Given the description of an element on the screen output the (x, y) to click on. 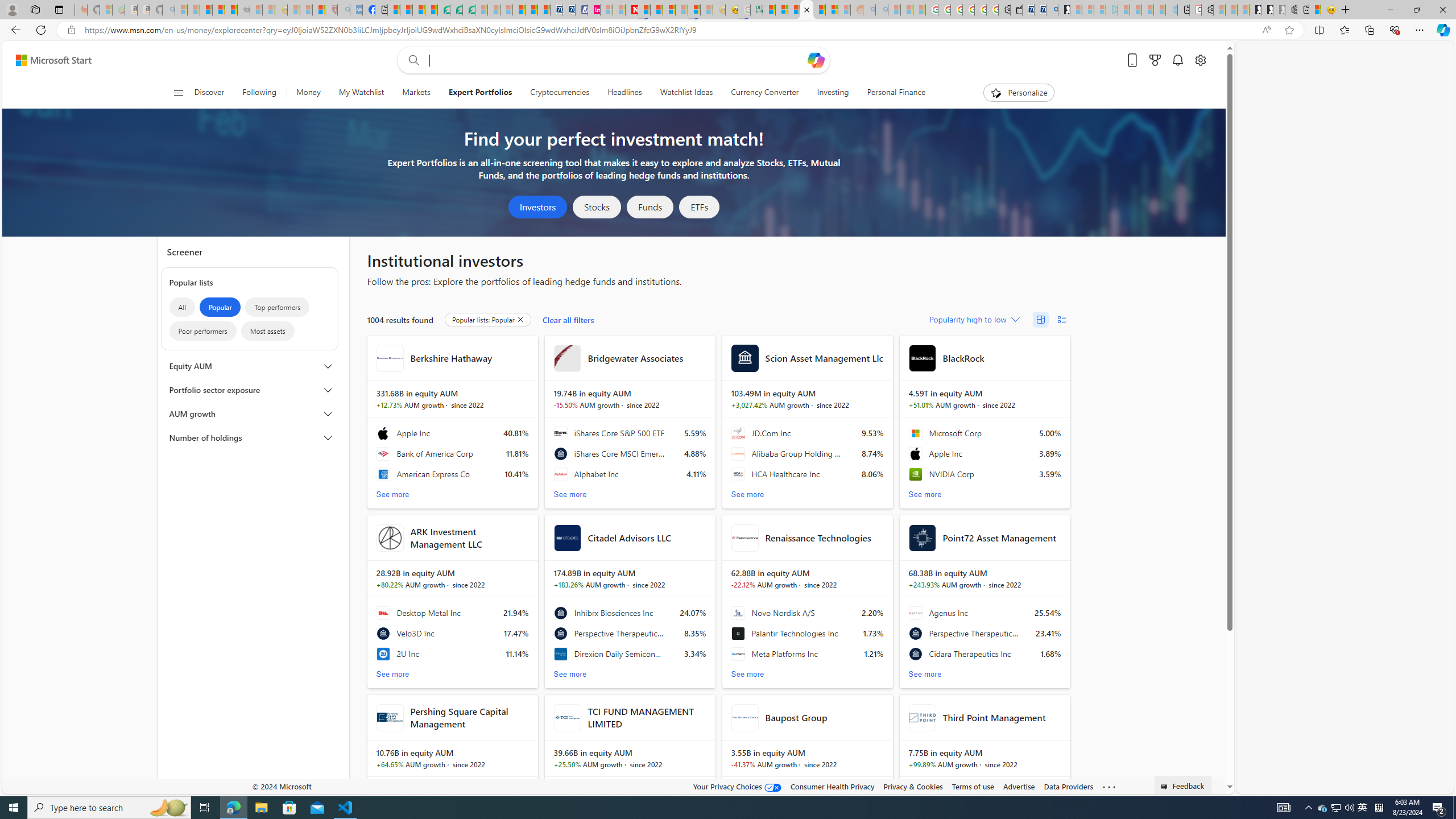
Wallet (1016, 9)
LendingTree - Compare Lenders (443, 9)
